Given the description of an element on the screen output the (x, y) to click on. 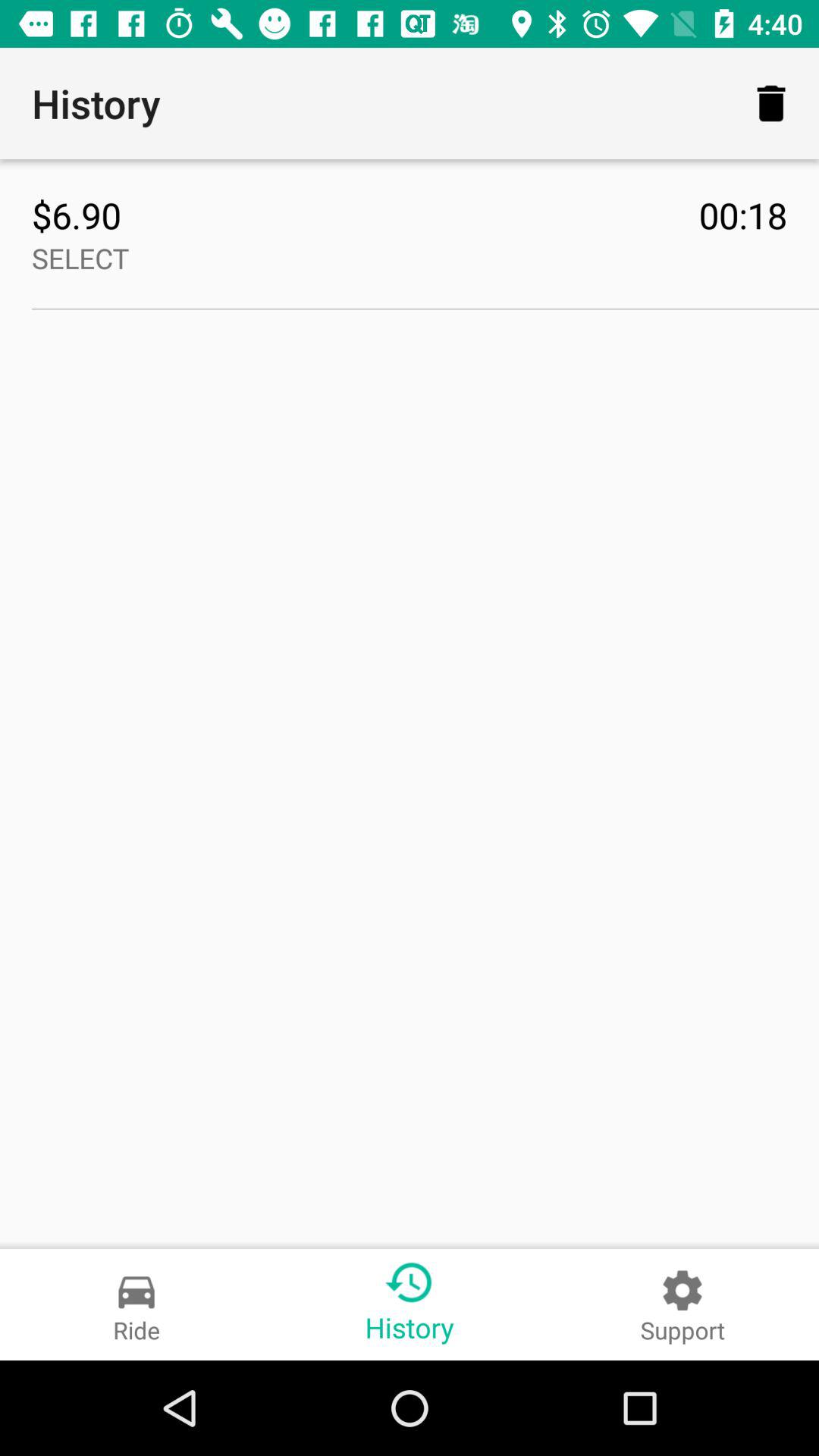
turn off icon to the right of history icon (771, 103)
